Given the description of an element on the screen output the (x, y) to click on. 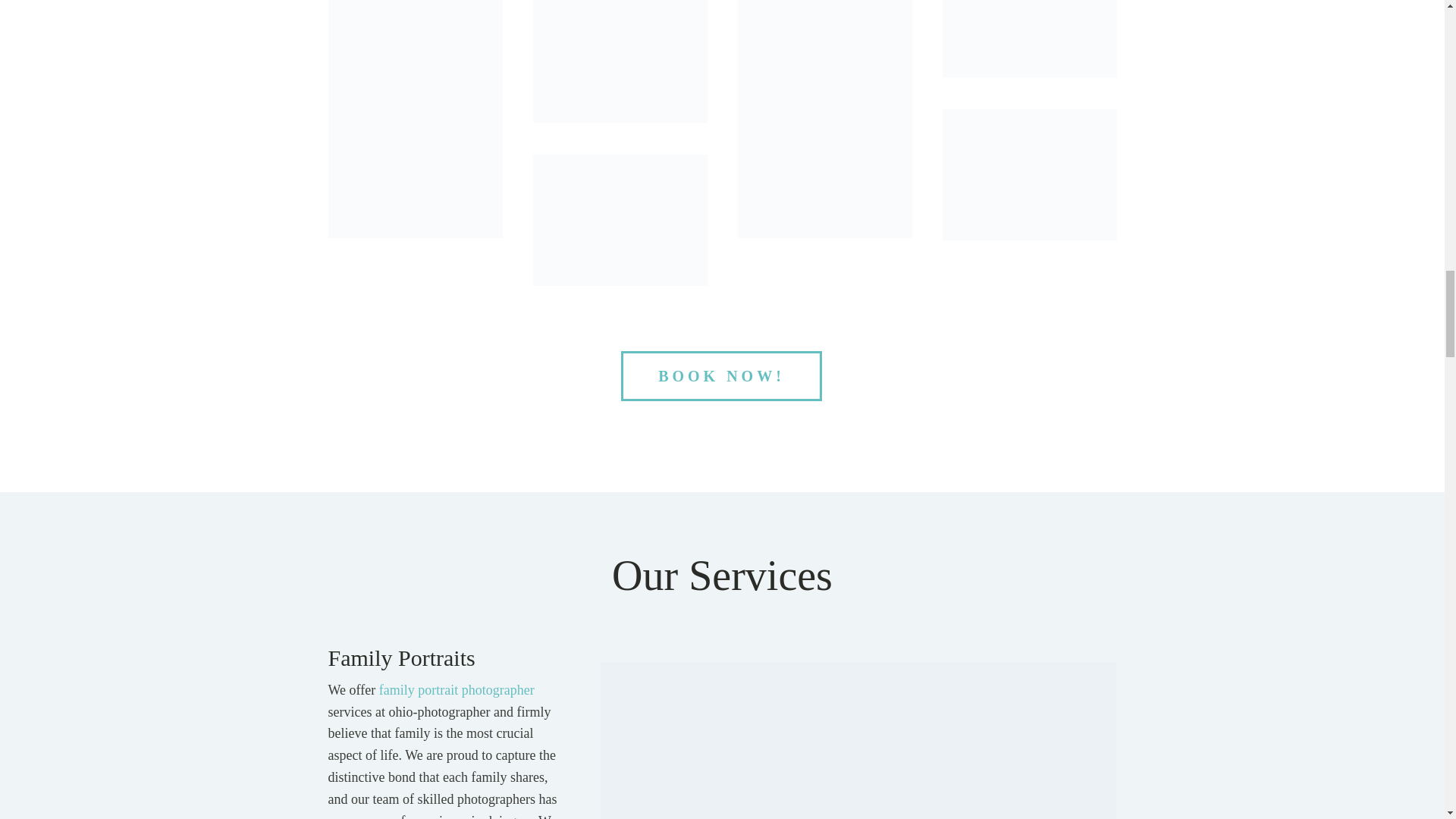
family portrait photographer (456, 689)
BOOK NOW! (721, 376)
